Given the description of an element on the screen output the (x, y) to click on. 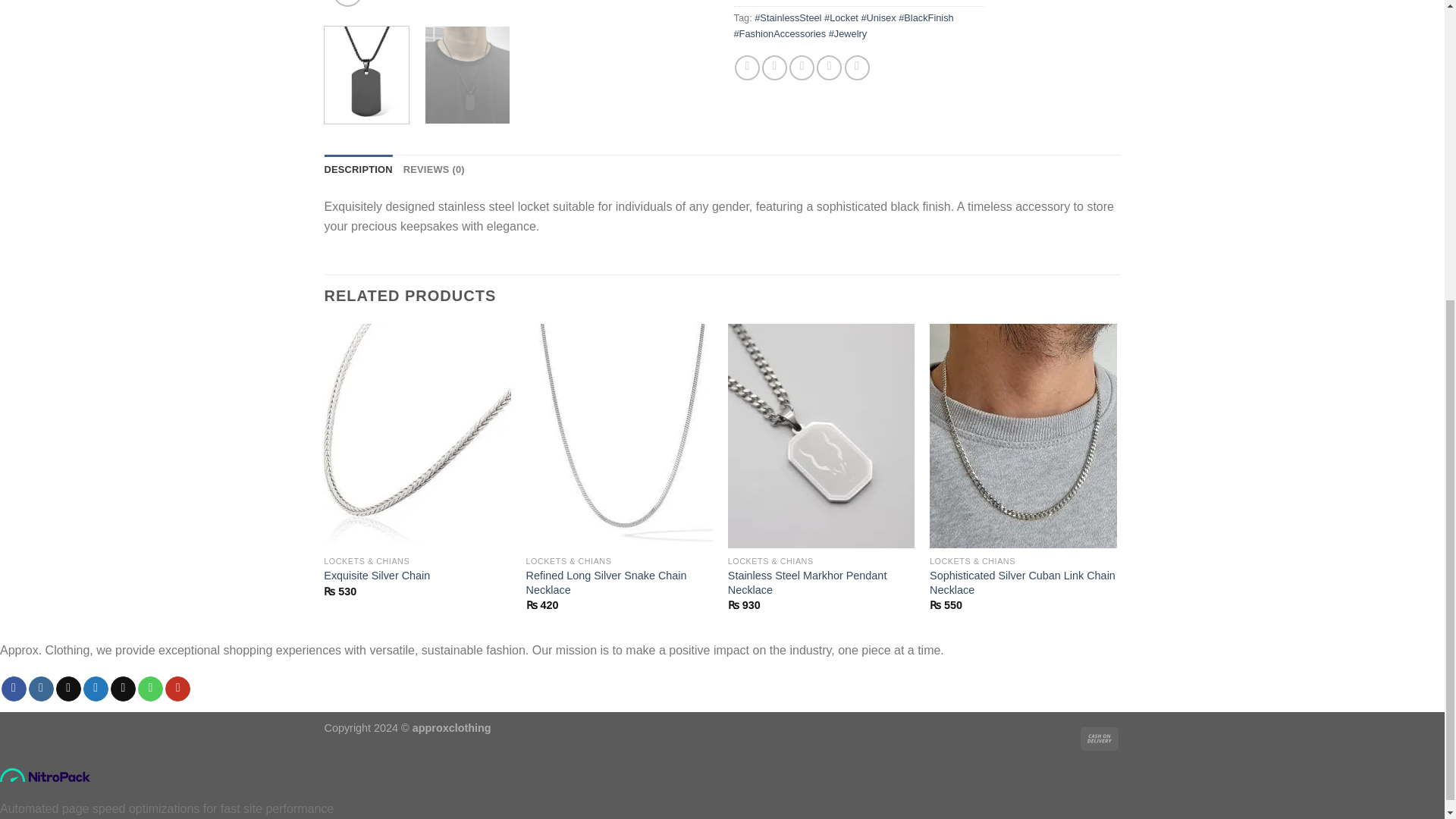
Share on Facebook (747, 67)
Follow on Facebook (13, 688)
Share on Twitter (774, 67)
Pin on Pinterest (828, 67)
Submit (387, 695)
Email to a Friend (801, 67)
Share on LinkedIn (856, 67)
Zoom (347, 3)
DESCRIPTION (358, 169)
